Given the description of an element on the screen output the (x, y) to click on. 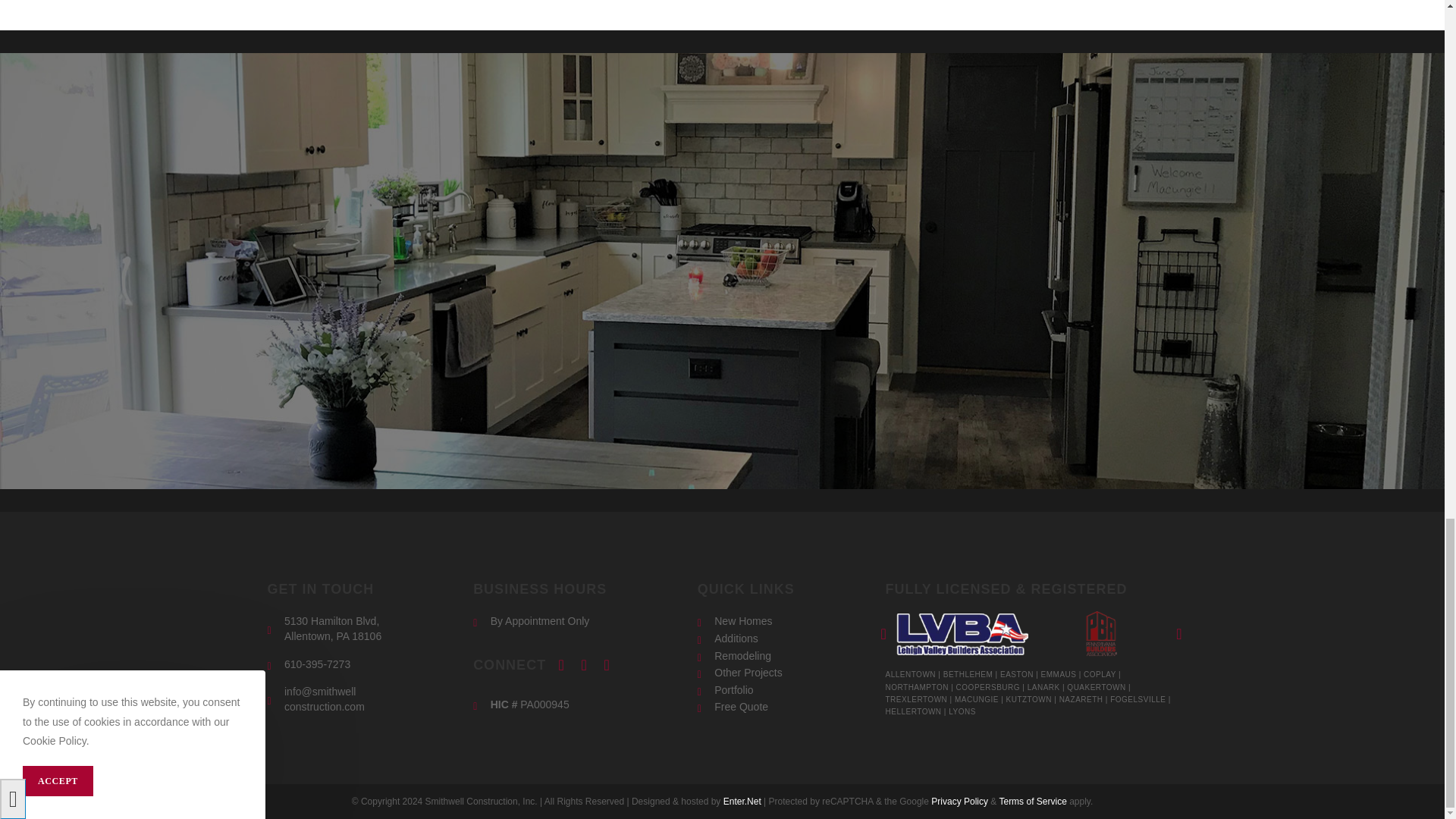
New Homes (783, 621)
